Given the description of an element on the screen output the (x, y) to click on. 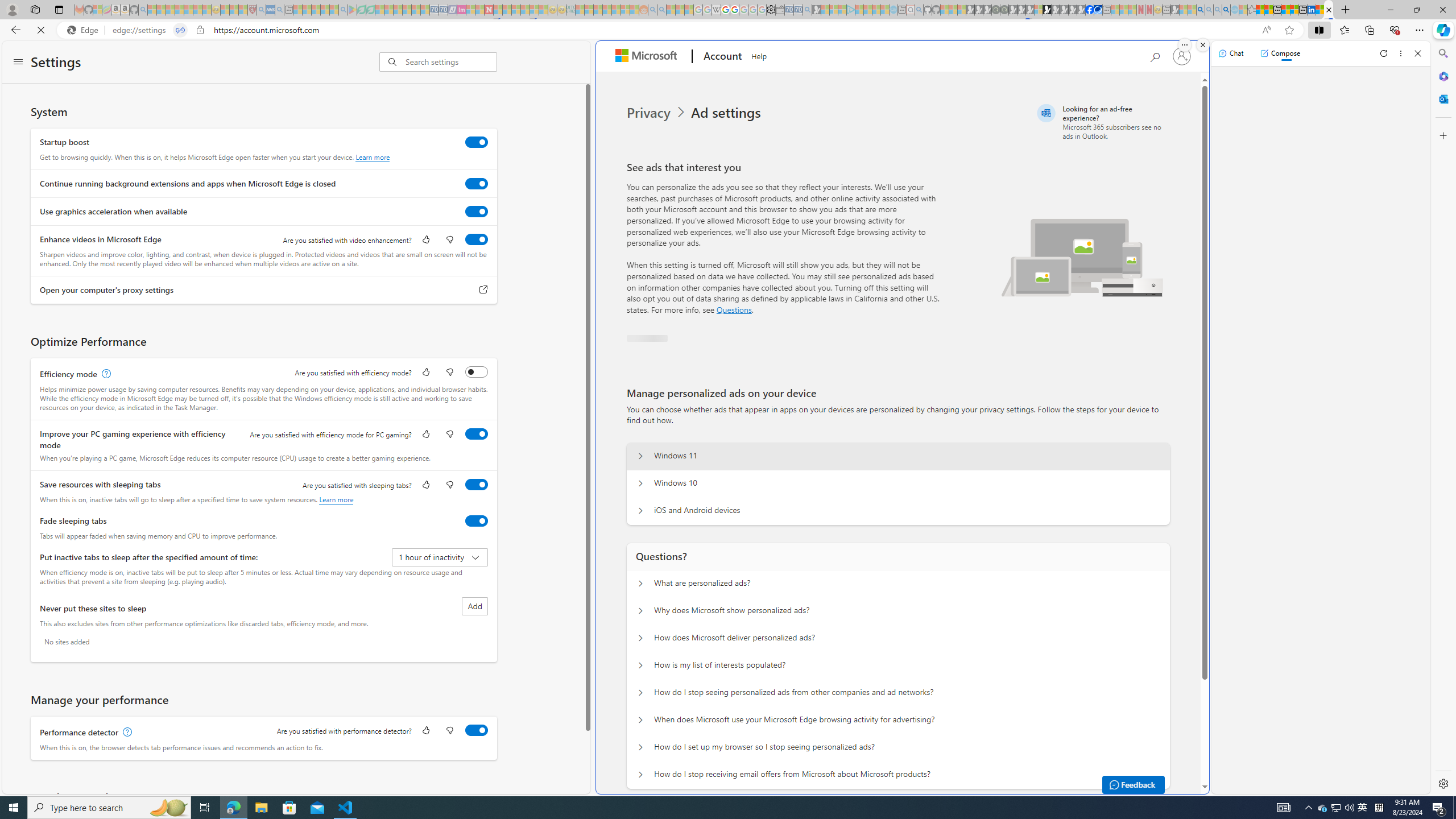
Learn more (335, 499)
Edge (84, 29)
Search Microsoft.com (1154, 54)
The Weather Channel - MSN - Sleeping (170, 9)
Latest Politics News & Archive | Newsweek.com - Sleeping (488, 9)
